Given the description of an element on the screen output the (x, y) to click on. 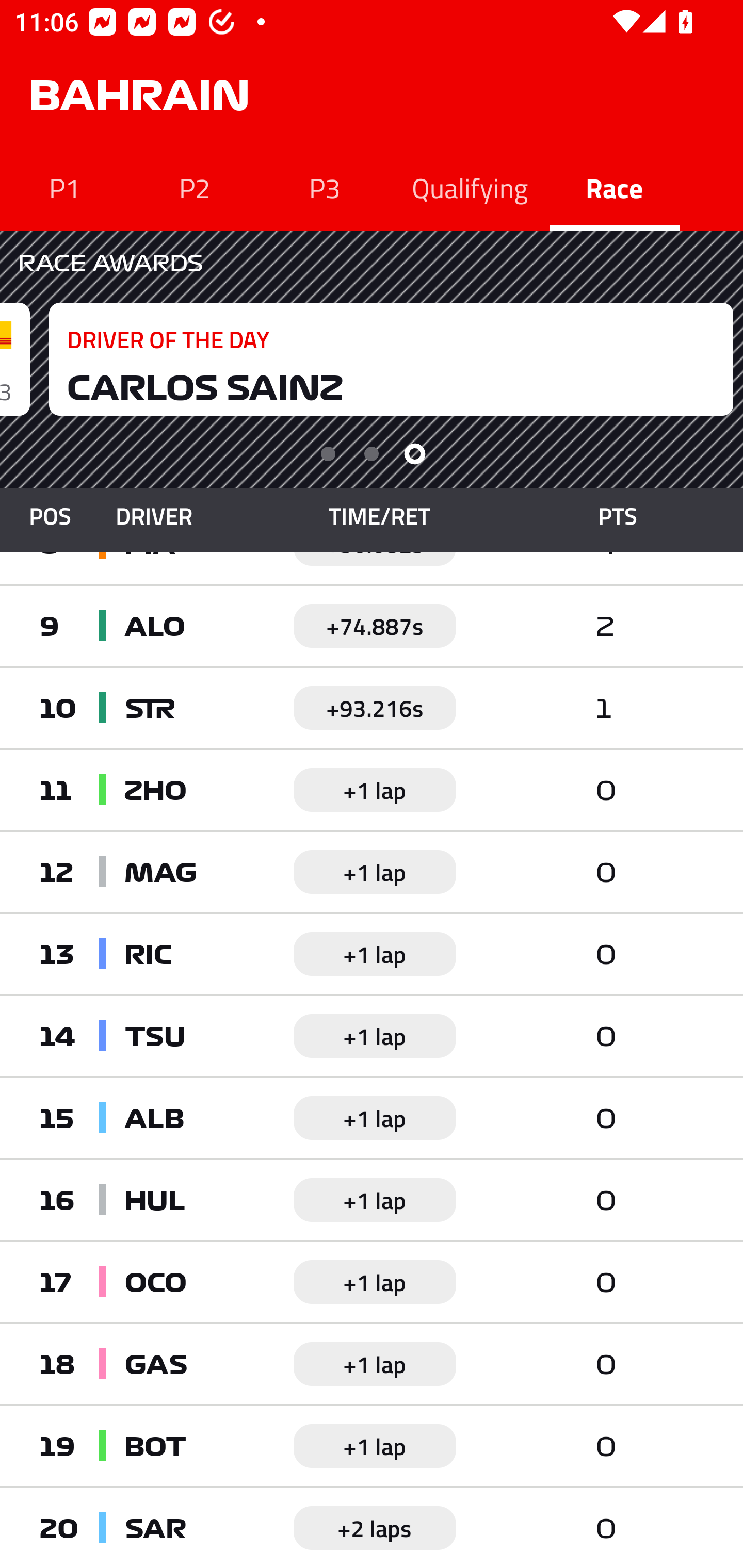
P1 (65, 187)
P2 (195, 187)
P3 (325, 187)
Qualifying (469, 187)
